Given the description of an element on the screen output the (x, y) to click on. 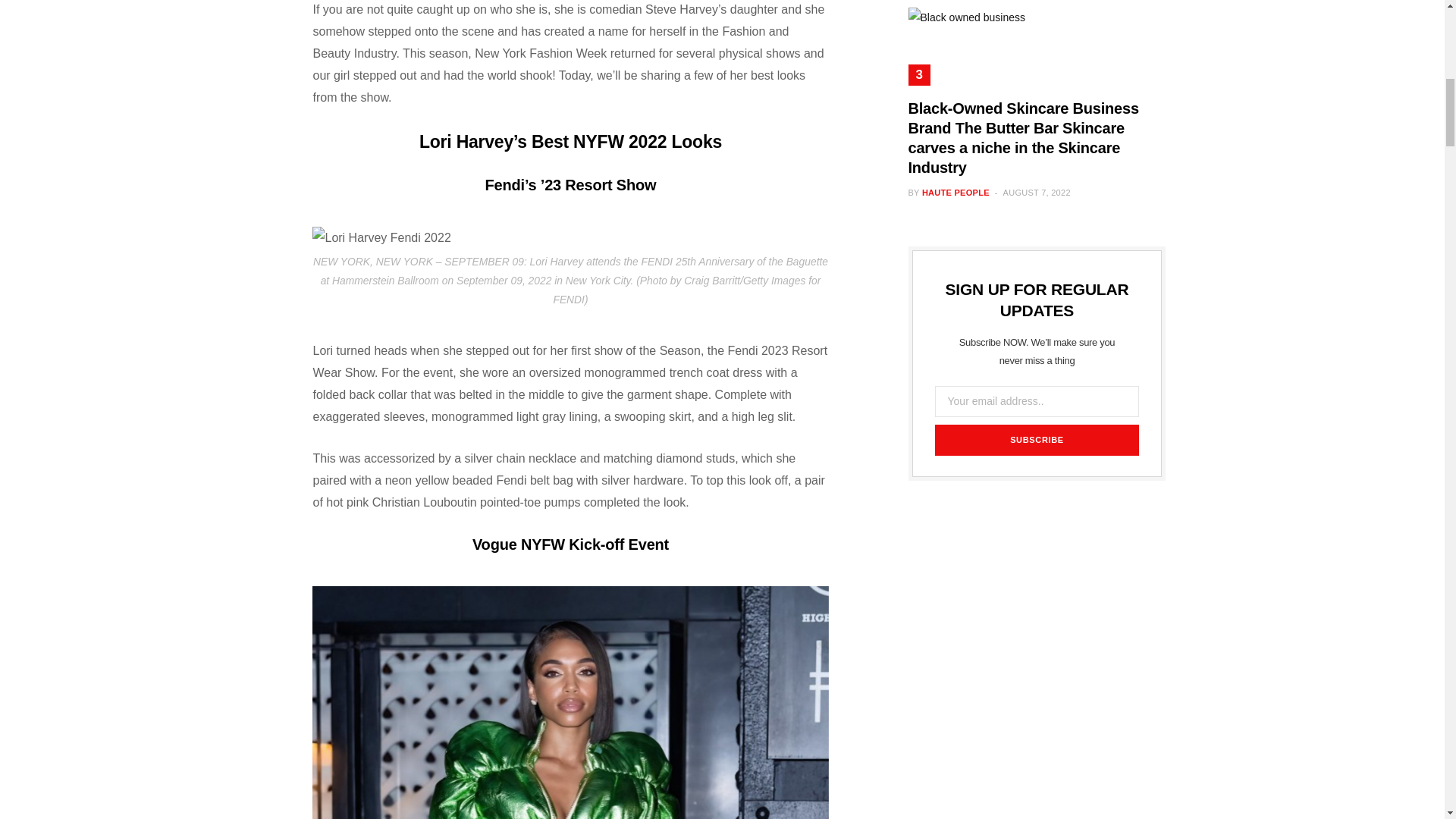
Subscribe (1036, 440)
